Given the description of an element on the screen output the (x, y) to click on. 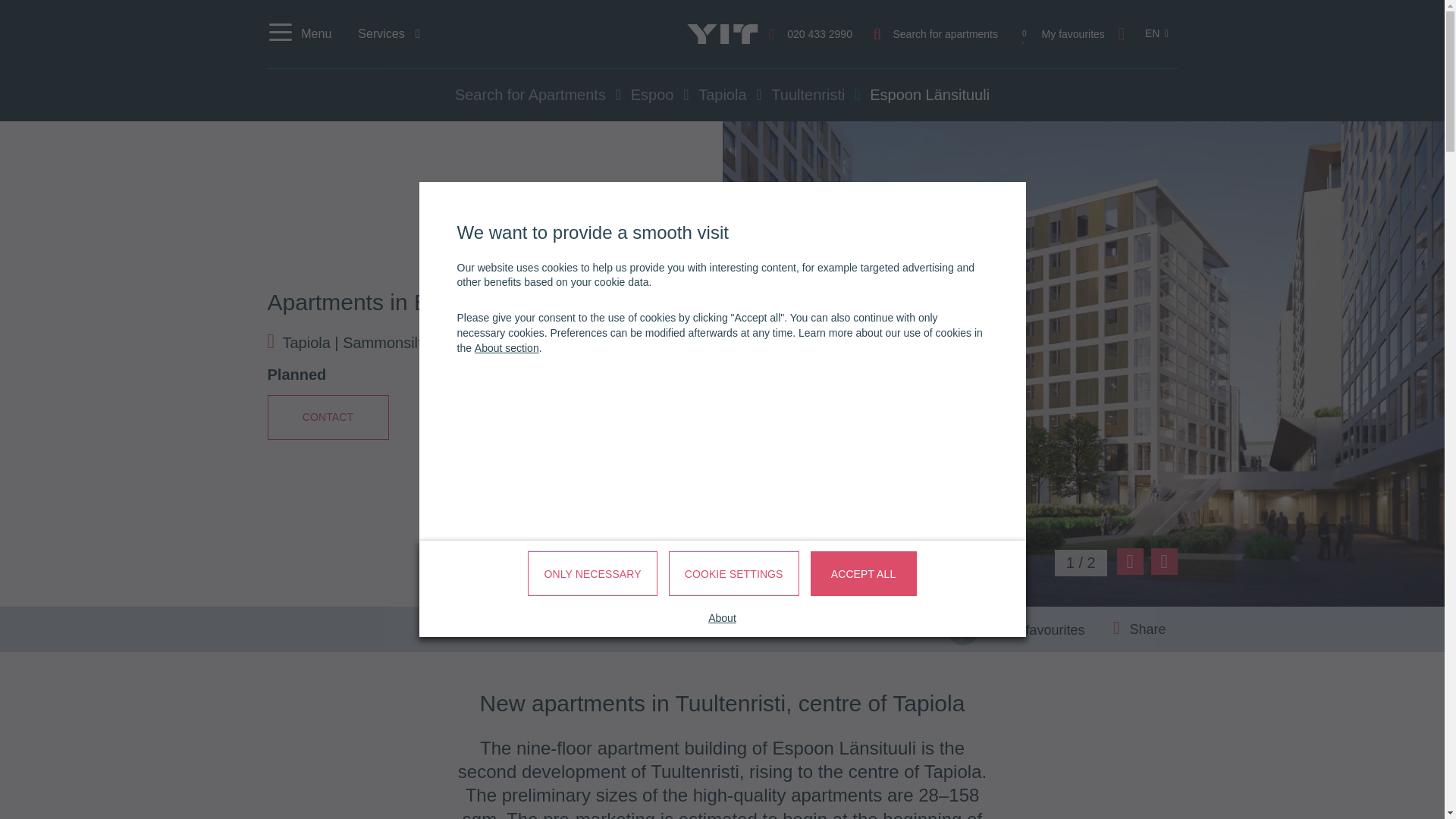
ONLY NECESSARY (591, 573)
About section (506, 347)
COOKIE SETTINGS (733, 573)
About (721, 618)
ACCEPT ALL (863, 573)
